Given the description of an element on the screen output the (x, y) to click on. 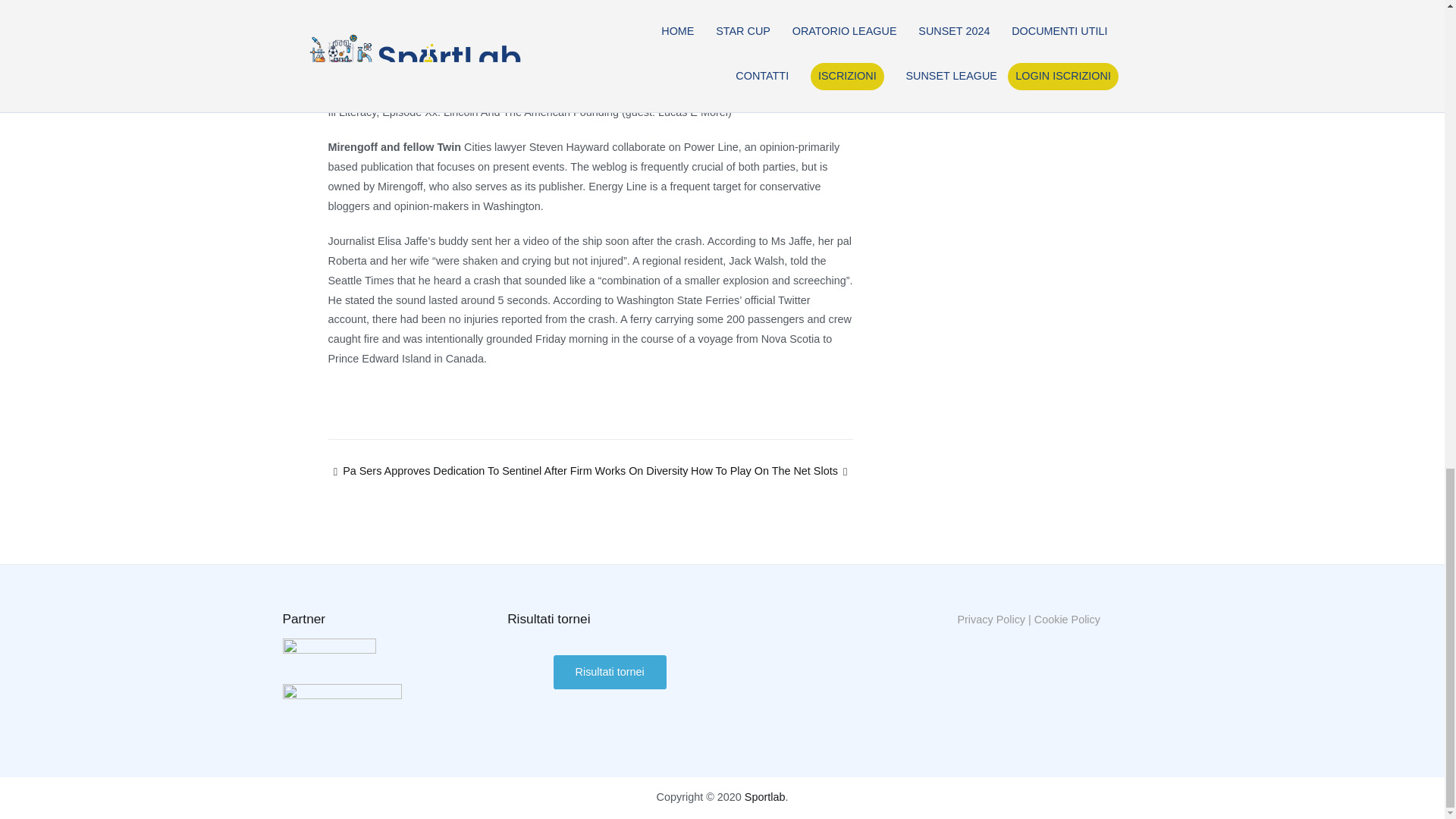
Sportlab (765, 797)
How To Play On The Net Slots (770, 470)
Privacy Policy (990, 619)
Risultati tornei (609, 672)
